Given the description of an element on the screen output the (x, y) to click on. 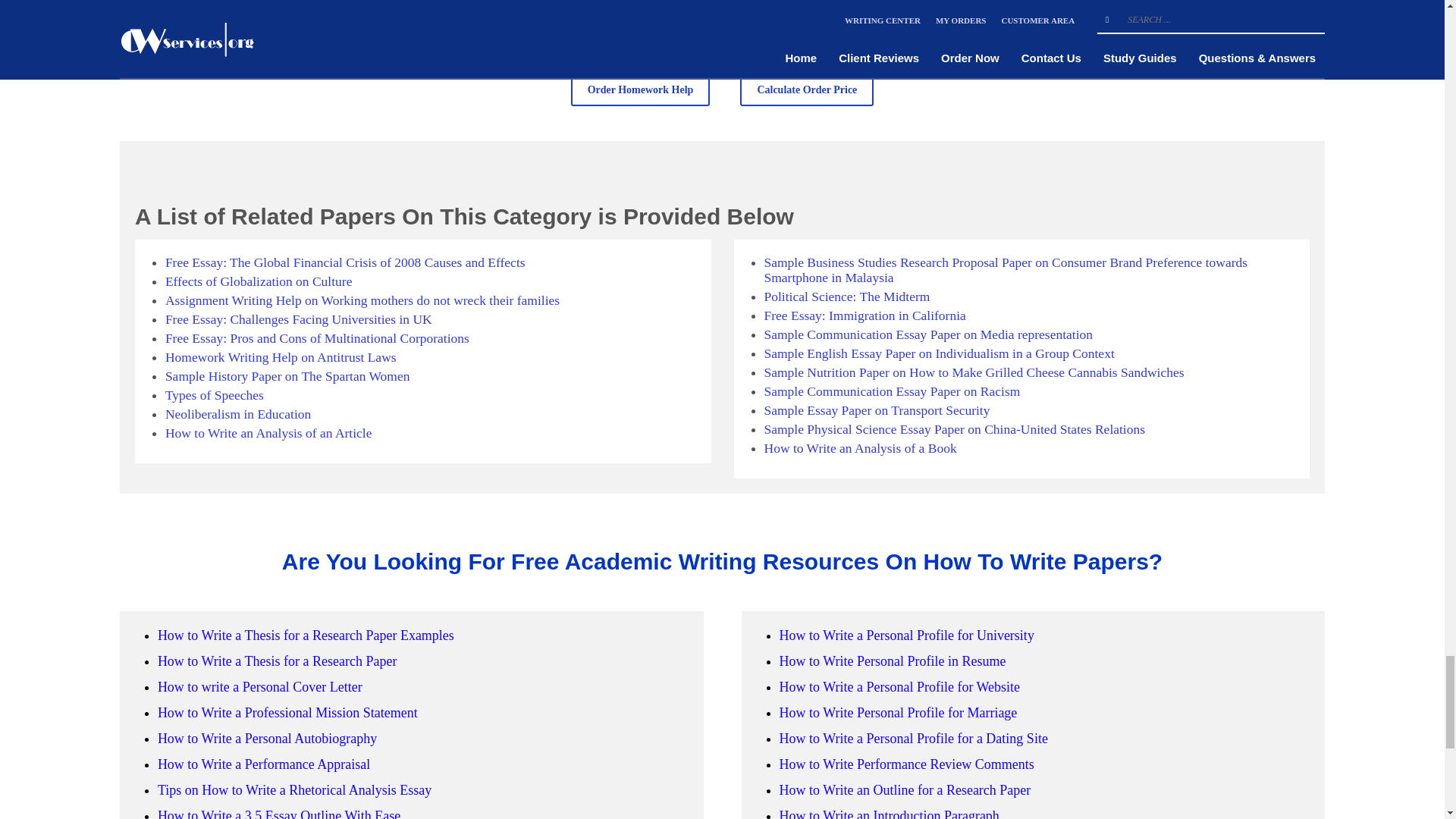
Homework Writing Help on Antitrust Laws (280, 356)
Free Essay: Challenges Facing Universities in UK (298, 319)
Effects of Globalization on Culture (258, 281)
Calculate Order Price (806, 90)
Order Homework Help (640, 90)
Sample History Paper on The Spartan Women (287, 376)
Free Essay: Pros and Cons of Multinational Corporations (316, 337)
